Given the description of an element on the screen output the (x, y) to click on. 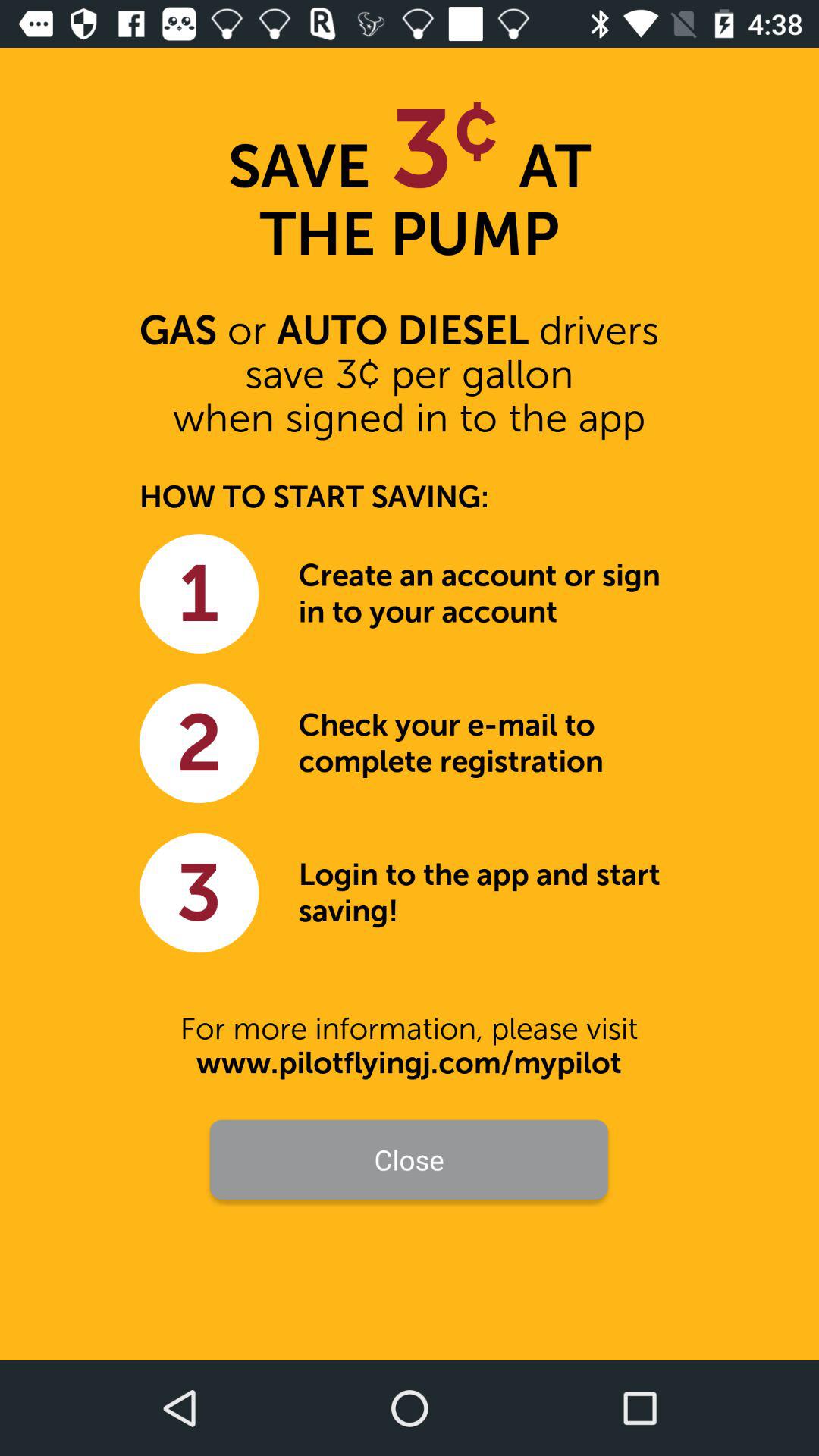
click find a store (409, 1230)
